Given the description of an element on the screen output the (x, y) to click on. 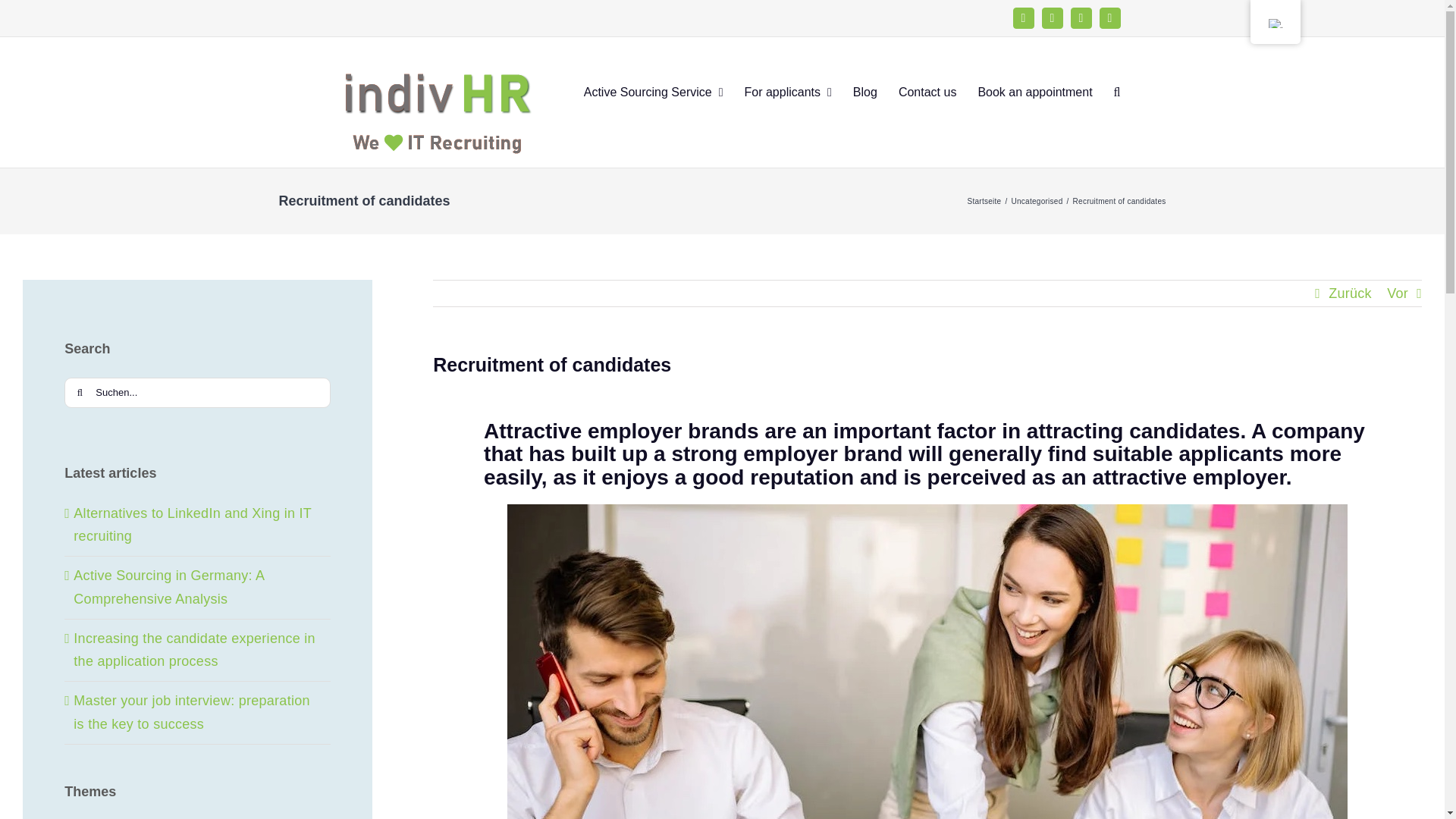
Facebook (1023, 17)
Facebook (1023, 17)
Book an appointment (1034, 91)
For applicants (787, 91)
Xing (1081, 17)
Uncategorised (1036, 201)
LinkedIn (1052, 17)
Startseite (984, 201)
Xing (1081, 17)
Contact us (927, 91)
LinkedIn (1052, 17)
Active Sourcing Service (653, 91)
WhatsApp (1110, 17)
WhatsApp (1110, 17)
